Given the description of an element on the screen output the (x, y) to click on. 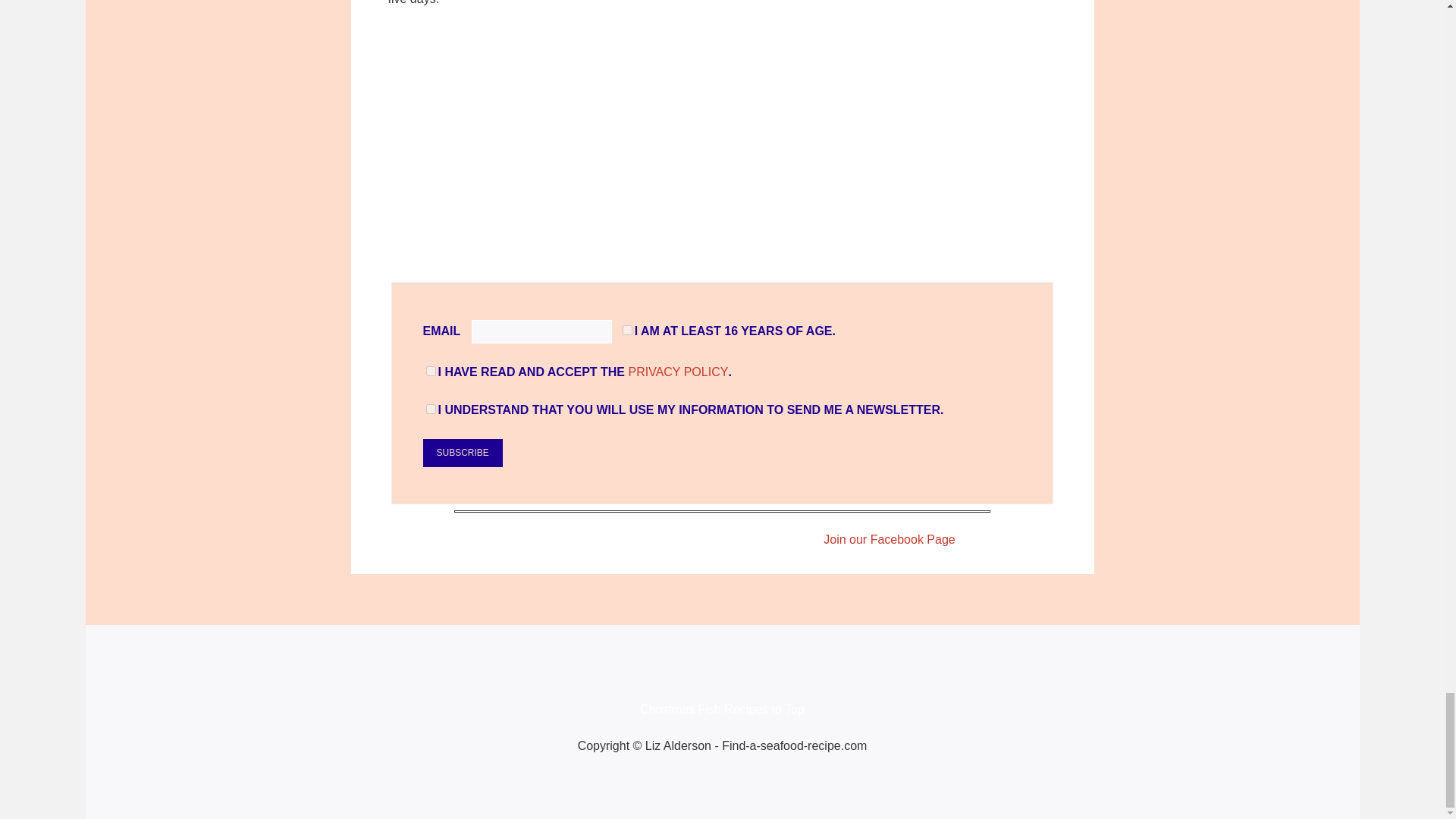
on (627, 329)
newsletter subscribe image (721, 145)
on (430, 370)
on (430, 409)
